Given the description of an element on the screen output the (x, y) to click on. 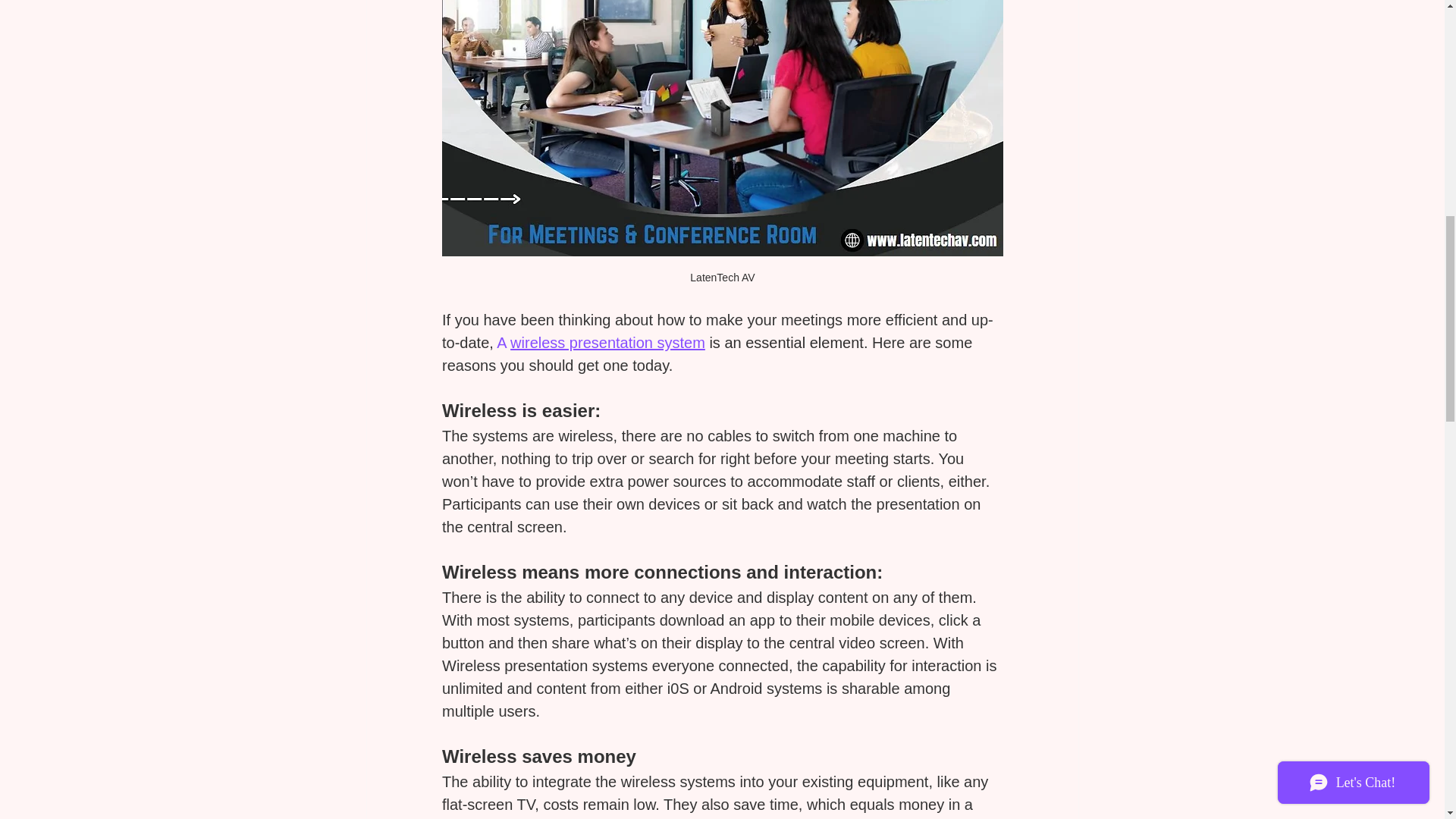
A  (503, 343)
wireless presentation system (607, 343)
